Given the description of an element on the screen output the (x, y) to click on. 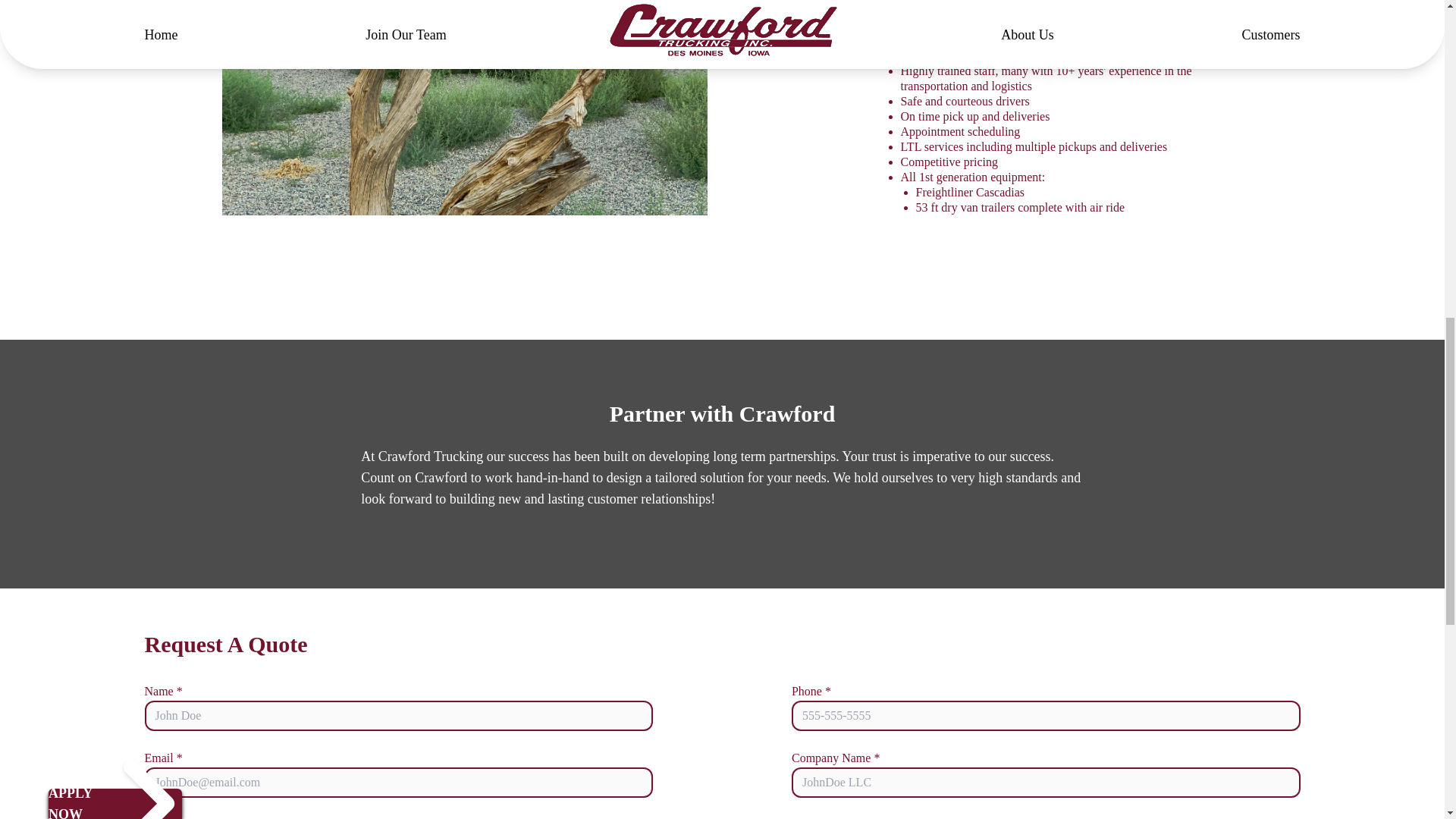
APPLY NOW (72, 2)
